Given the description of an element on the screen output the (x, y) to click on. 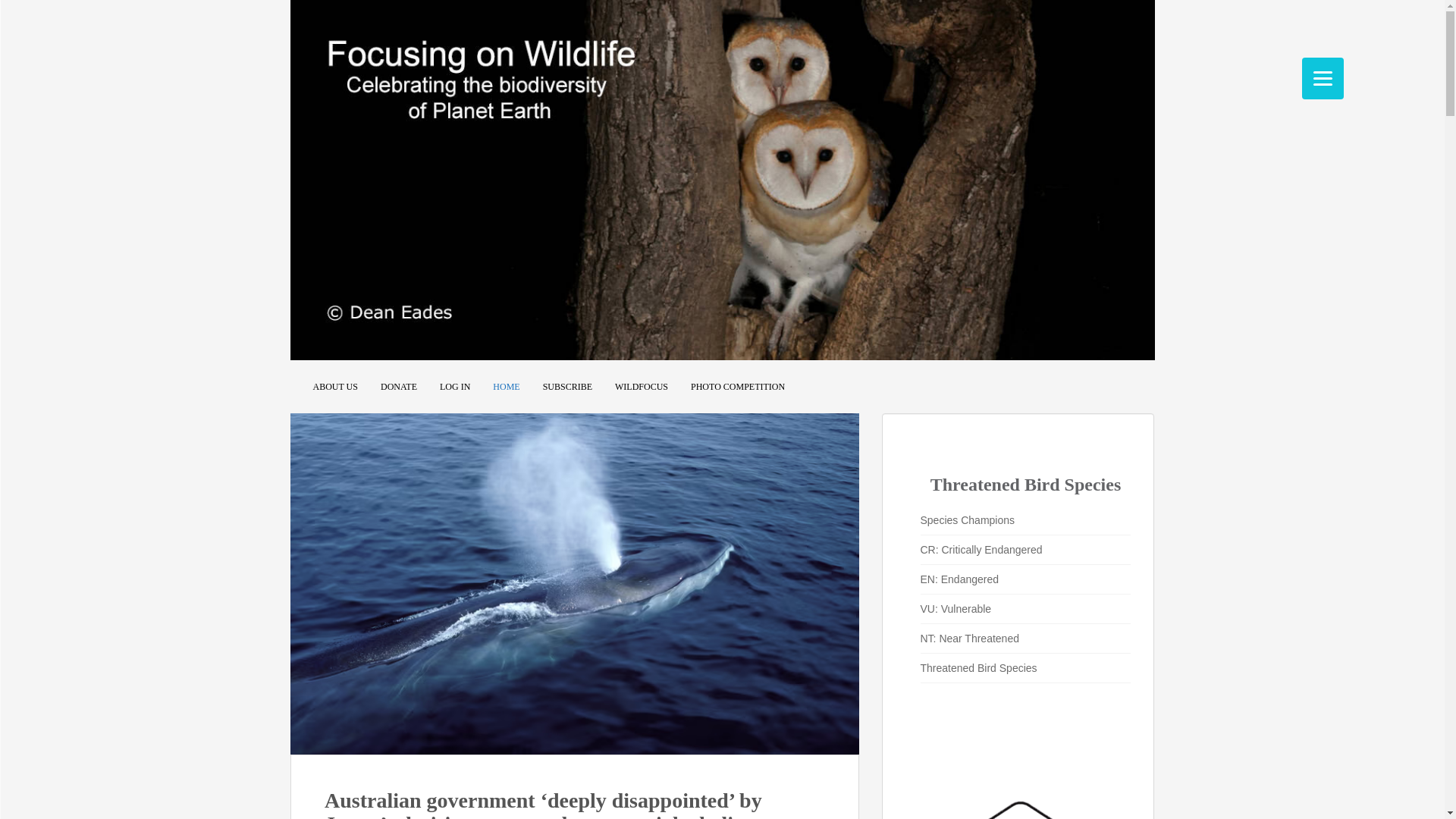
ABOUT US (334, 386)
LOG IN (454, 386)
PHOTO COMPETITION (737, 386)
DONATE (398, 386)
WILDFOCUS (641, 386)
SUBSCRIBE (567, 386)
